Given the description of an element on the screen output the (x, y) to click on. 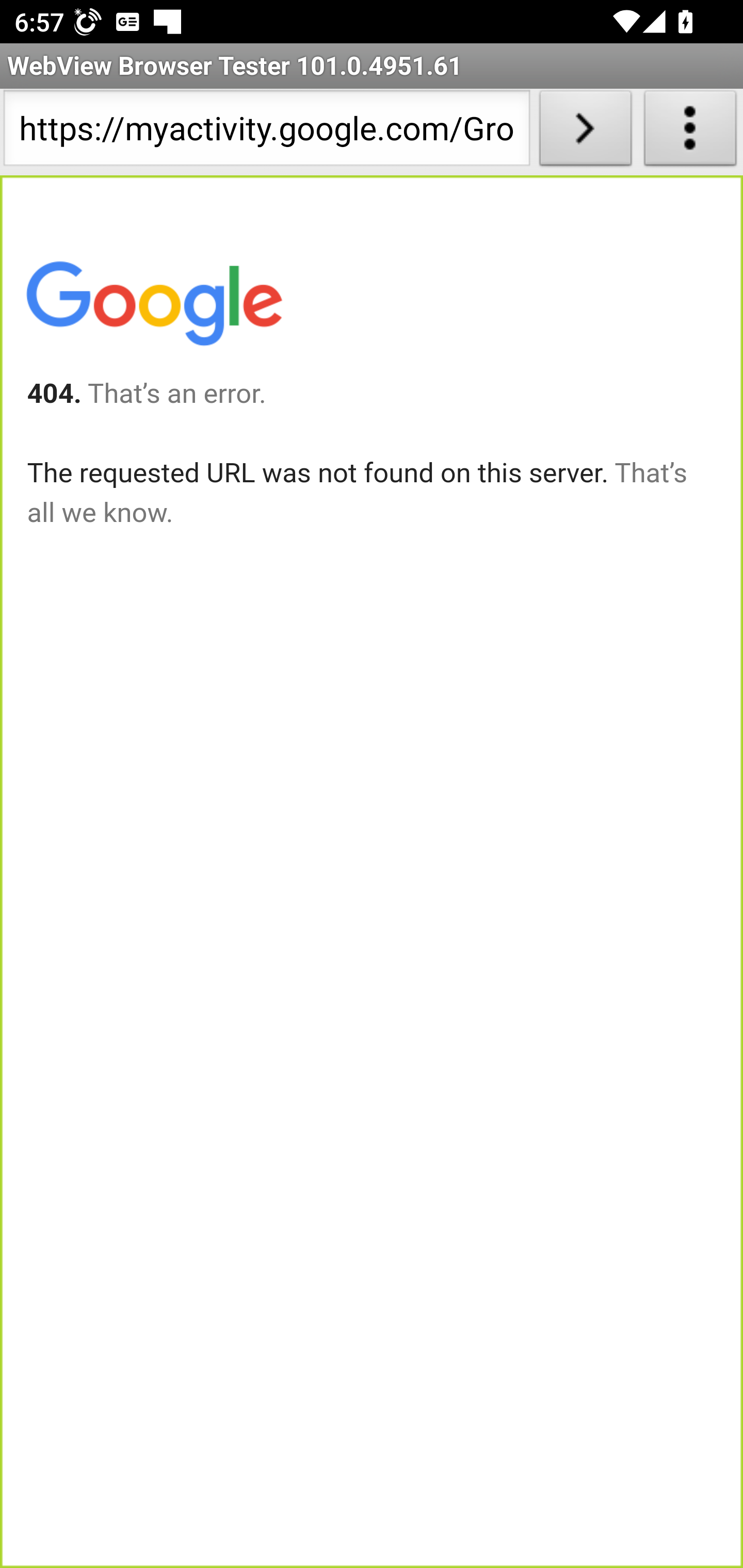
https://myactivity.google.com/Grocery%20Shopping (266, 132)
Load URL (585, 132)
About WebView (690, 132)
Google (153, 307)
